Given the description of an element on the screen output the (x, y) to click on. 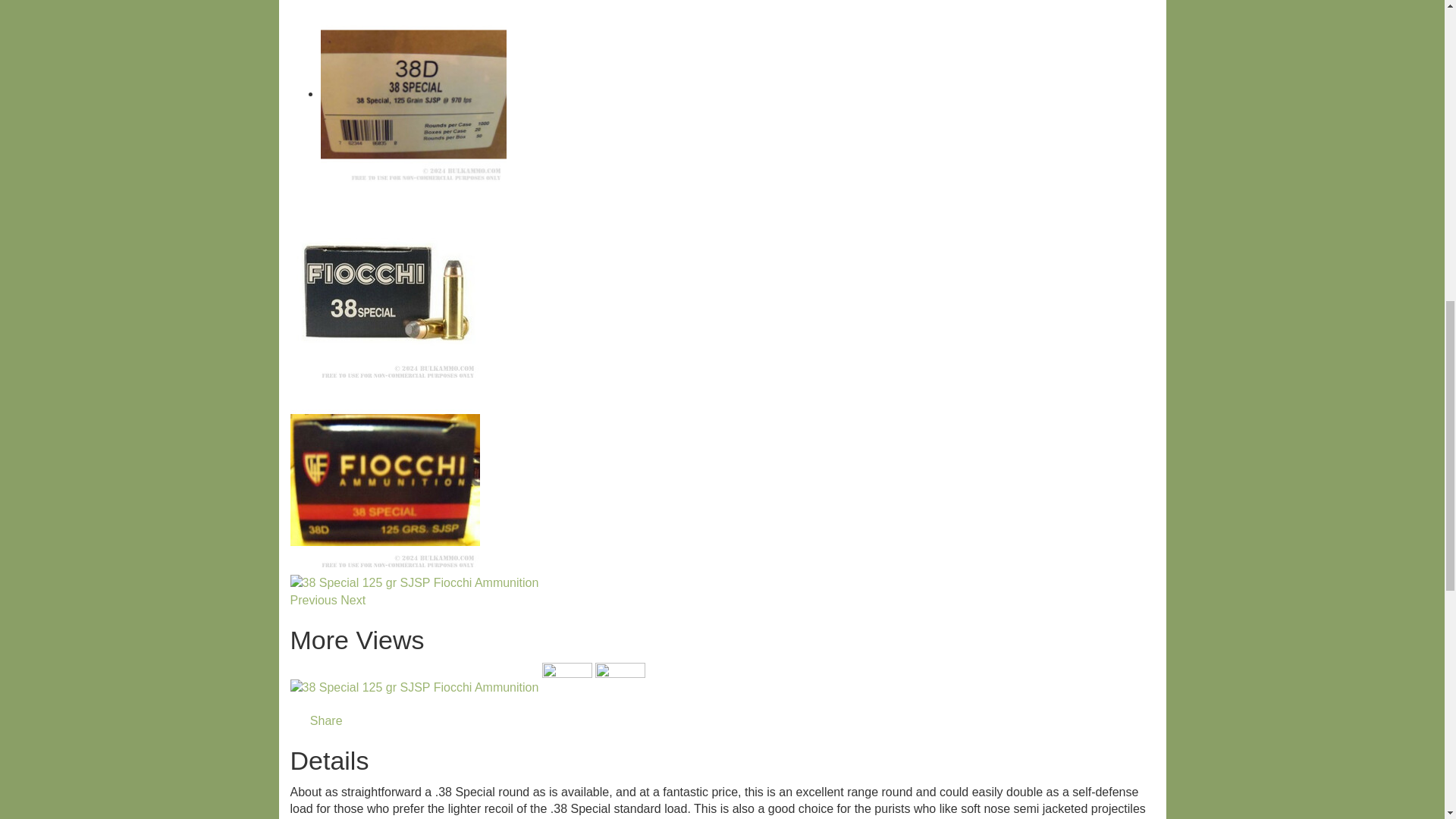
38 Special 125 gr SJSP Fiocchi Ammunition (413, 686)
38 Special 125 gr SJSP Fiocchi Ammunition (384, 479)
38 Special 125 gr SJSP Fiocchi Ammunition (413, 583)
38 Special 125 gr SJSP Fiocchi Ammunition (412, 94)
38 Special 125 gr SJSP Fiocchi Ammunition (384, 289)
